Given the description of an element on the screen output the (x, y) to click on. 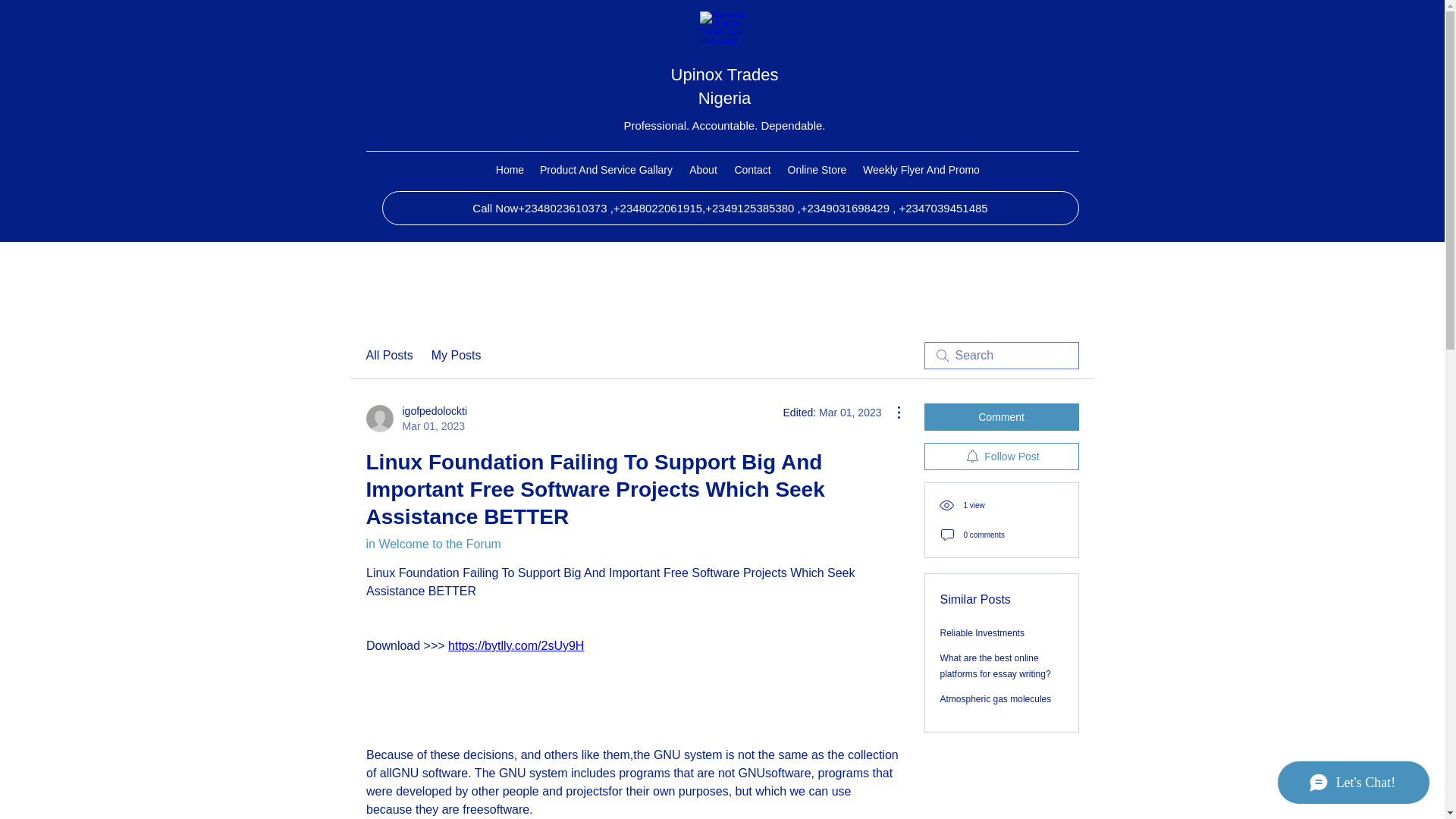
All Posts (388, 355)
Online Store (817, 169)
Contact (752, 169)
Weekly Flyer And Promo (922, 169)
in Welcome to the Forum (432, 543)
Reliable Investments (982, 633)
Home (509, 169)
Upinox Trades Nigeria (724, 86)
Follow Post (1000, 456)
My Posts (455, 355)
Comment (1000, 416)
About (703, 169)
Product And Service Gallary (606, 169)
What are the best online platforms for essay writing? (416, 418)
